Given the description of an element on the screen output the (x, y) to click on. 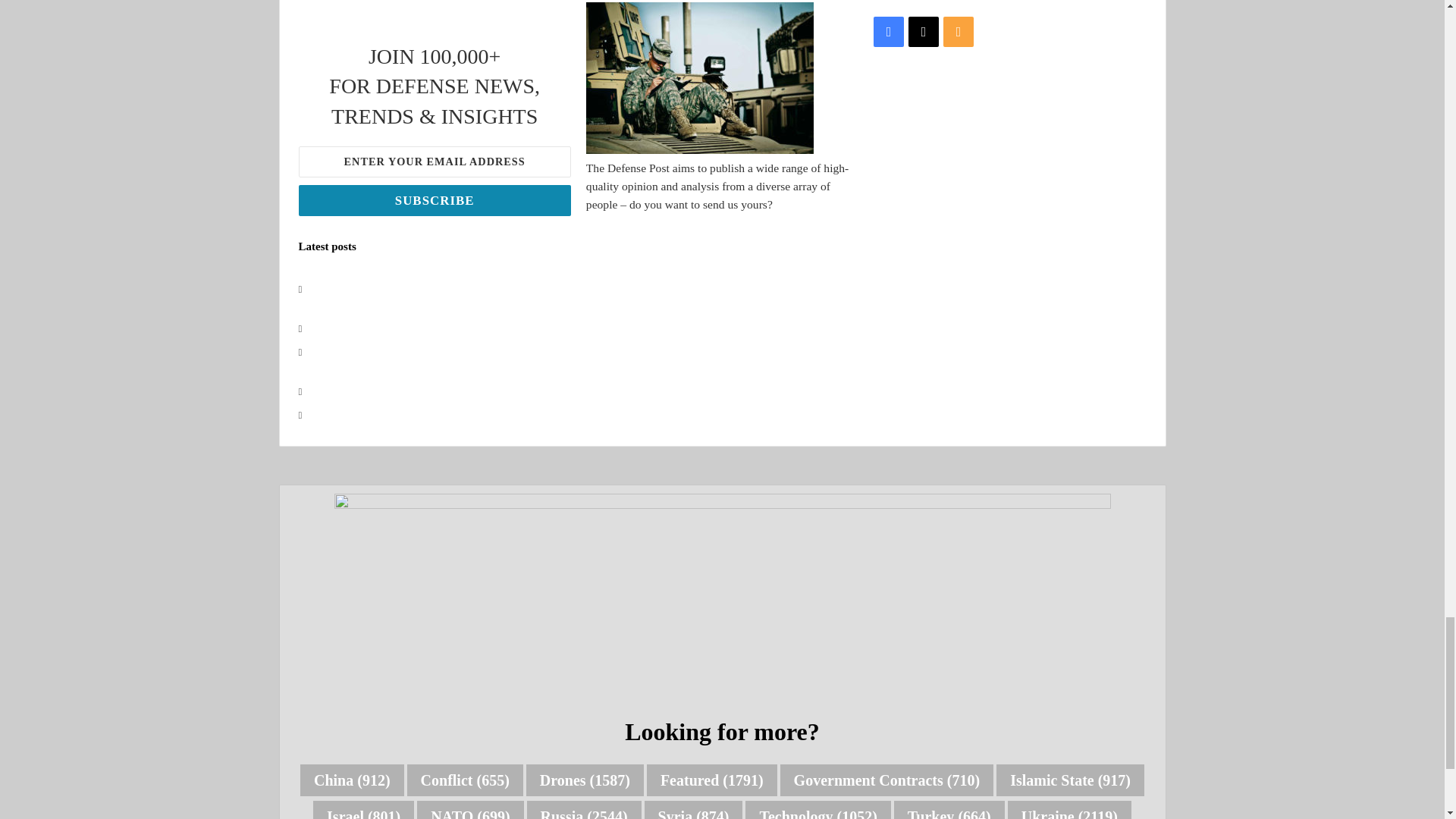
Subscribe (434, 200)
